Given the description of an element on the screen output the (x, y) to click on. 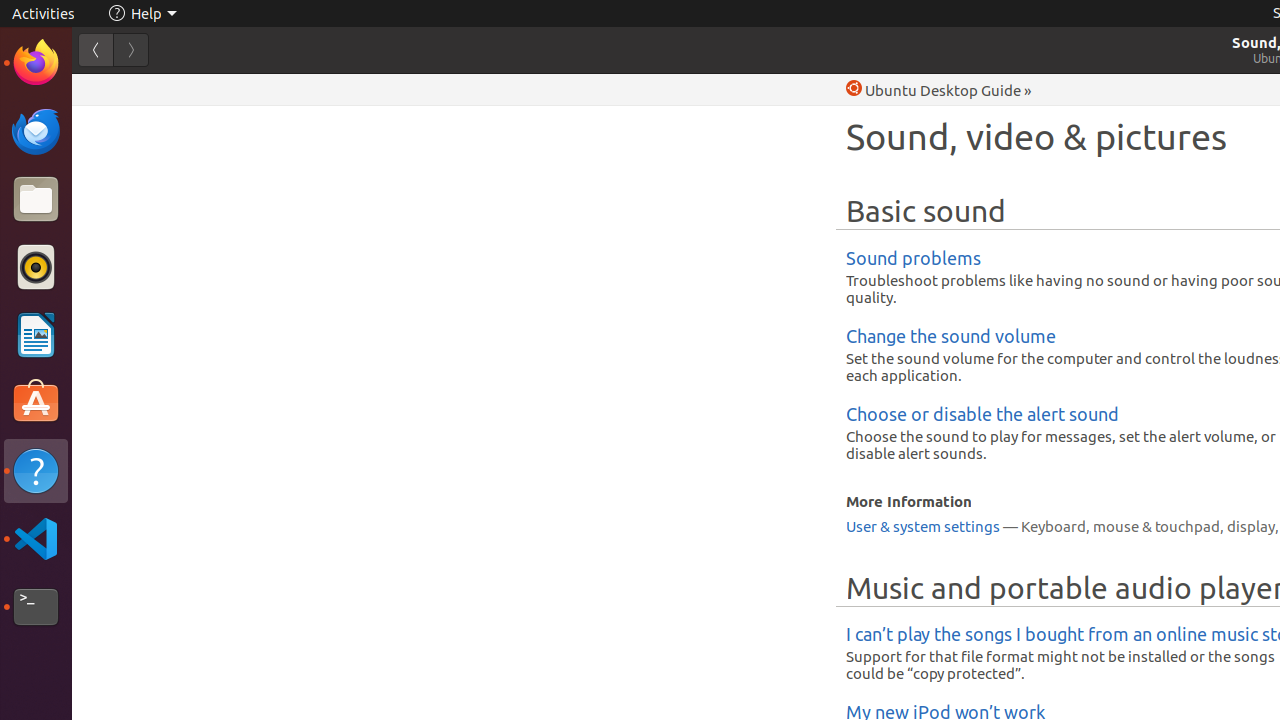
Firefox Web Browser Element type: push-button (36, 63)
li.txt Element type: label (259, 89)
